Given the description of an element on the screen output the (x, y) to click on. 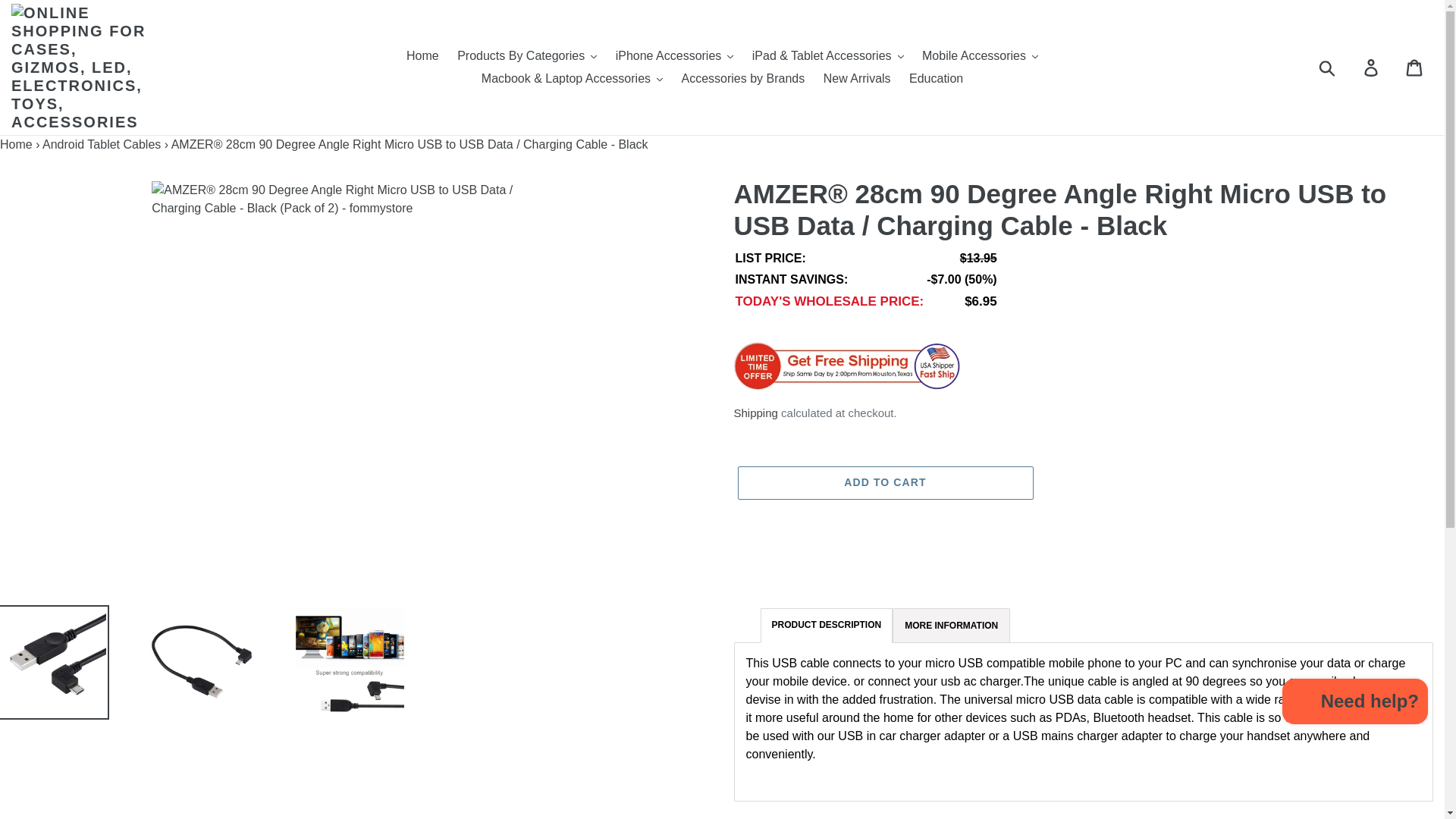
Home (422, 56)
Home (16, 144)
Shopify online store chat (1355, 703)
